Given the description of an element on the screen output the (x, y) to click on. 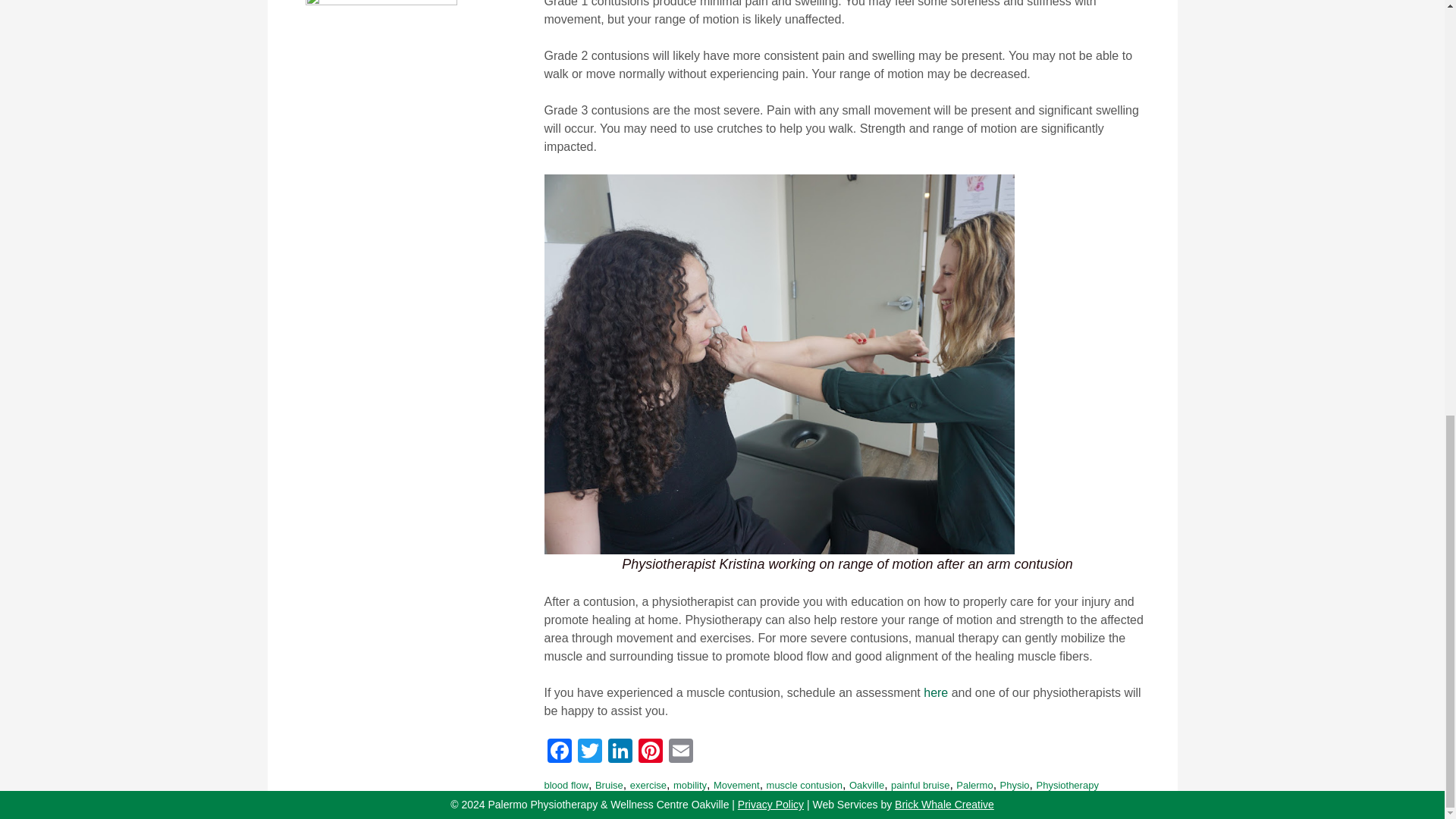
painful bruise (920, 785)
Physiotherapy (1066, 785)
Bruise (609, 785)
Oakville (865, 785)
Facebook (559, 752)
LinkedIn (619, 752)
Movement (736, 785)
Email (680, 752)
exercise (648, 785)
Pinterest (649, 752)
muscle contusion (805, 785)
Physio (1014, 785)
Facebook (559, 752)
here (935, 692)
Twitter (590, 752)
